Given the description of an element on the screen output the (x, y) to click on. 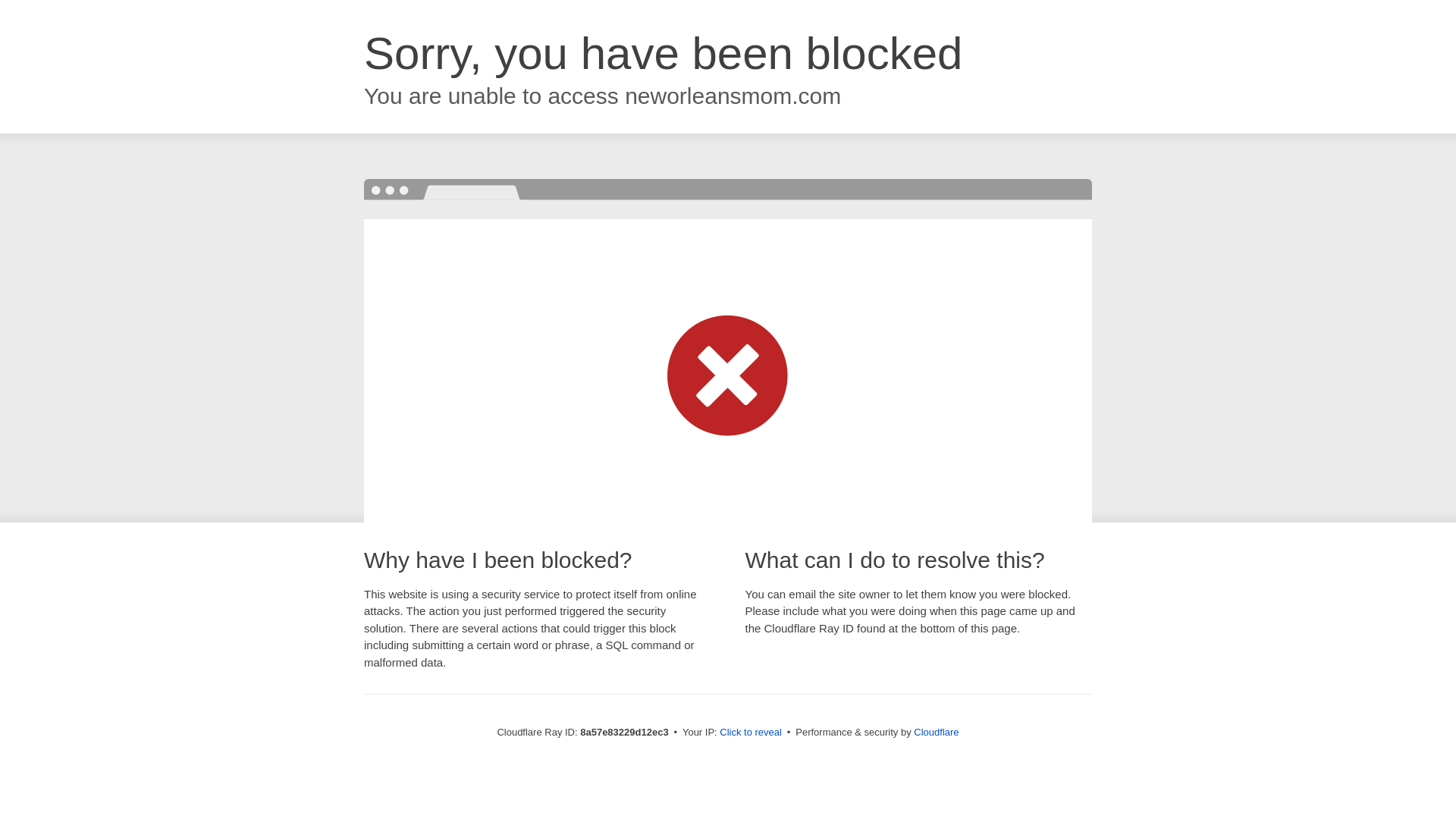
Cloudflare (936, 731)
Click to reveal (750, 732)
